Given the description of an element on the screen output the (x, y) to click on. 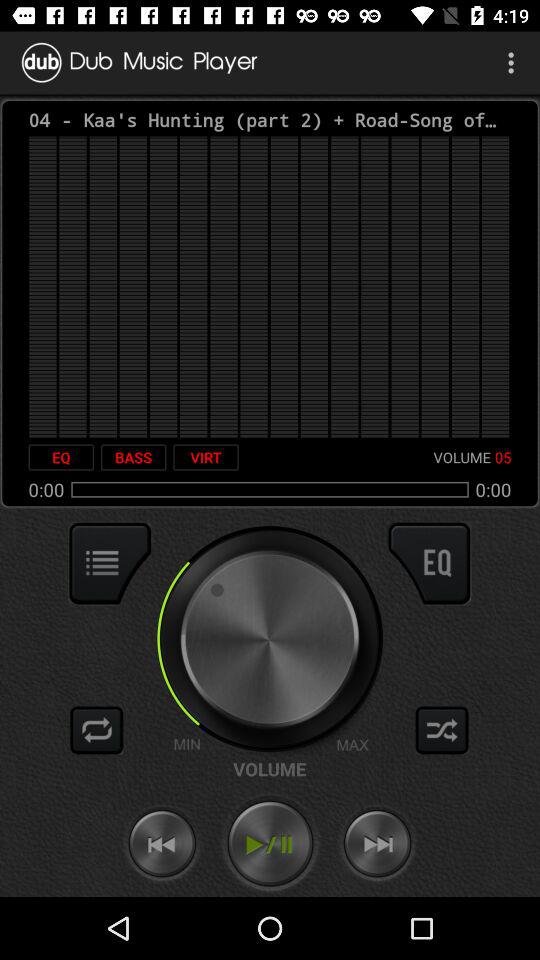
scroll to the  virt  item (205, 457)
